Given the description of an element on the screen output the (x, y) to click on. 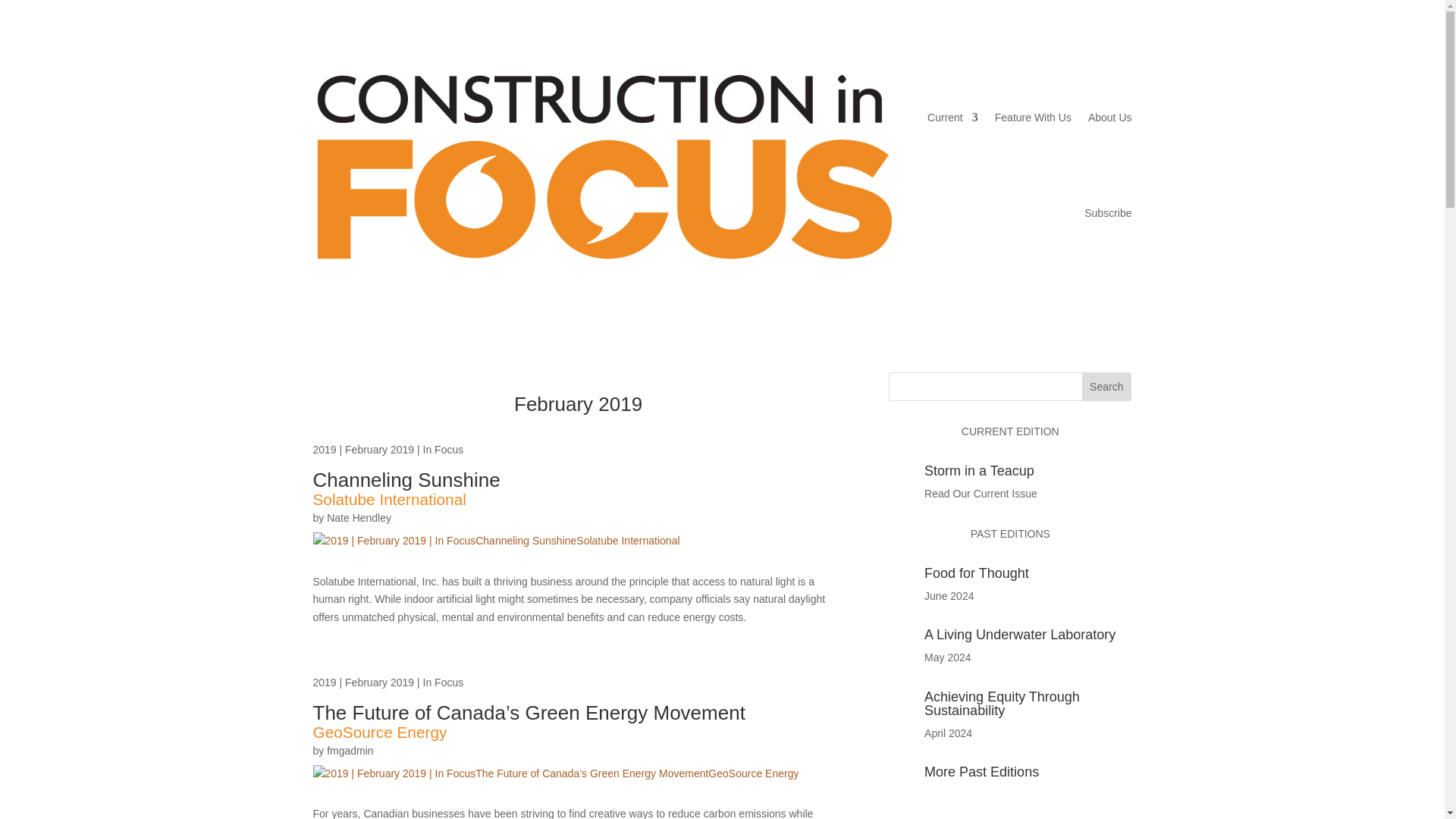
Search (1106, 386)
Posts by fmgadmin (349, 750)
fmgadmin (349, 750)
Search (1106, 386)
Nate Hendley (358, 517)
Posts by Nate Hendley (358, 517)
Search (1106, 386)
